Given the description of an element on the screen output the (x, y) to click on. 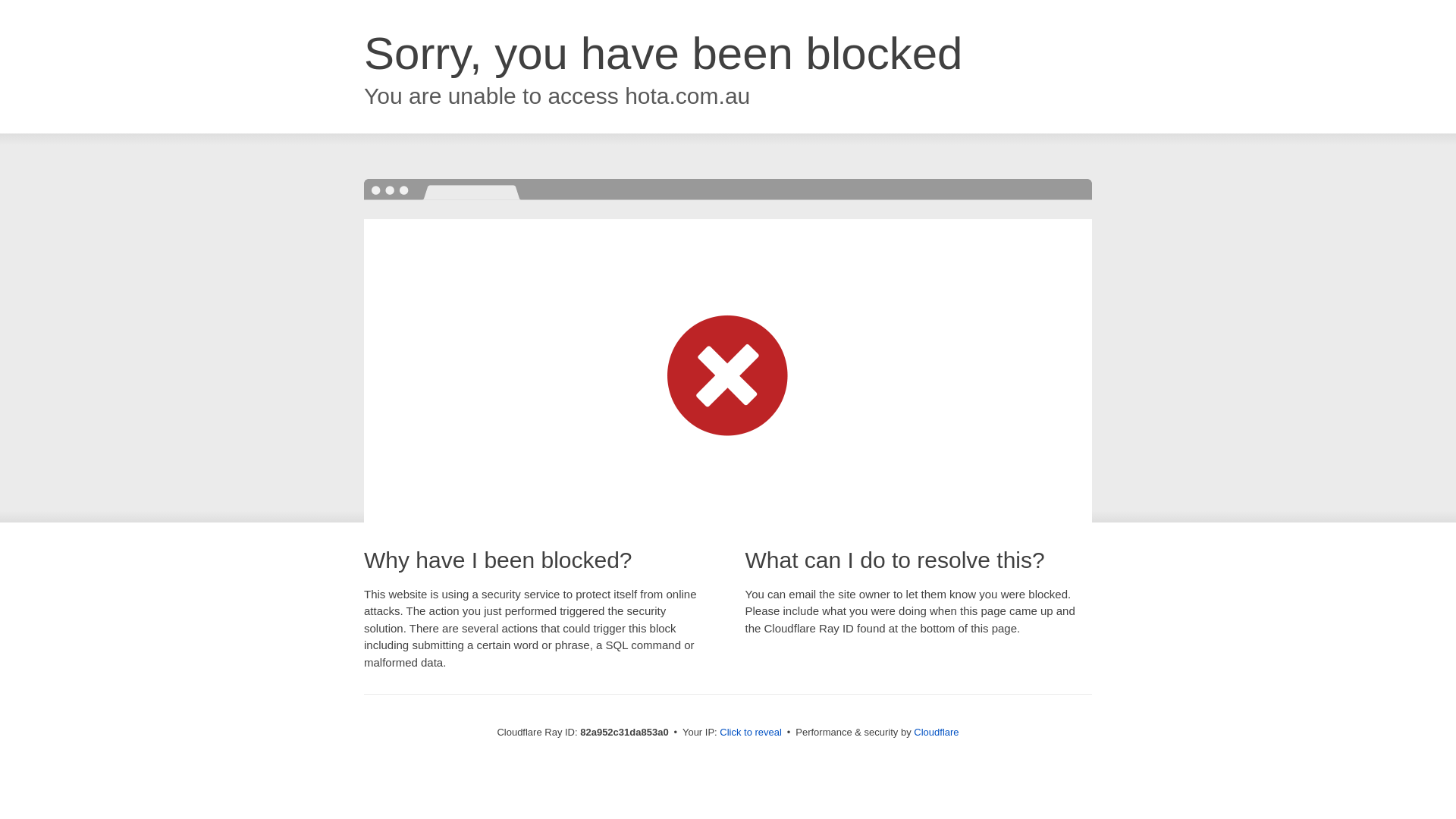
Cloudflare Element type: text (935, 731)
Click to reveal Element type: text (750, 732)
